Given the description of an element on the screen output the (x, y) to click on. 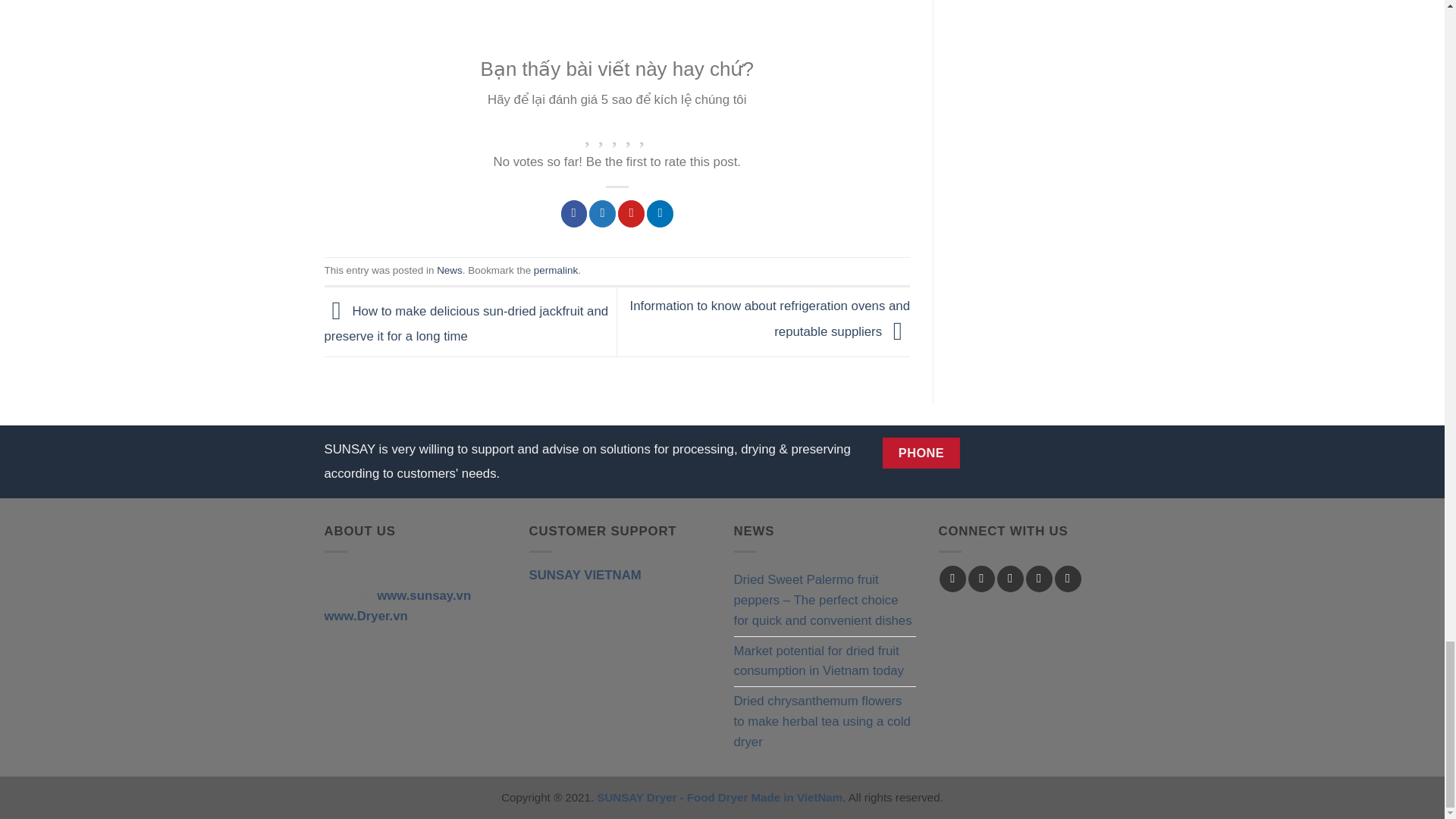
News (449, 270)
permalink (556, 270)
